Given the description of an element on the screen output the (x, y) to click on. 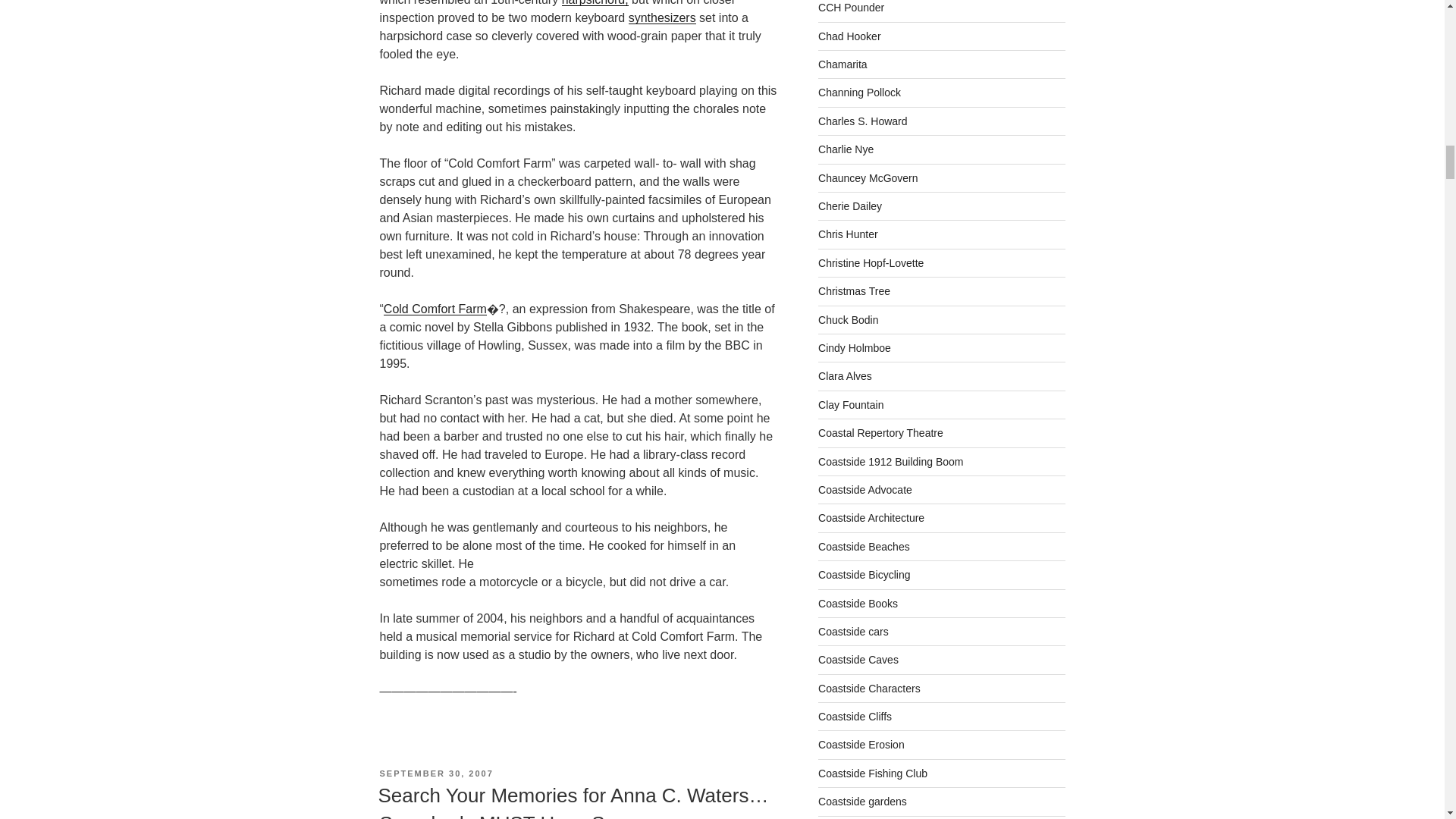
Cold Comfort Farm (435, 308)
SEPTEMBER 30, 2007 (435, 773)
harpsichord, (595, 2)
synthesizers (661, 17)
